Given the description of an element on the screen output the (x, y) to click on. 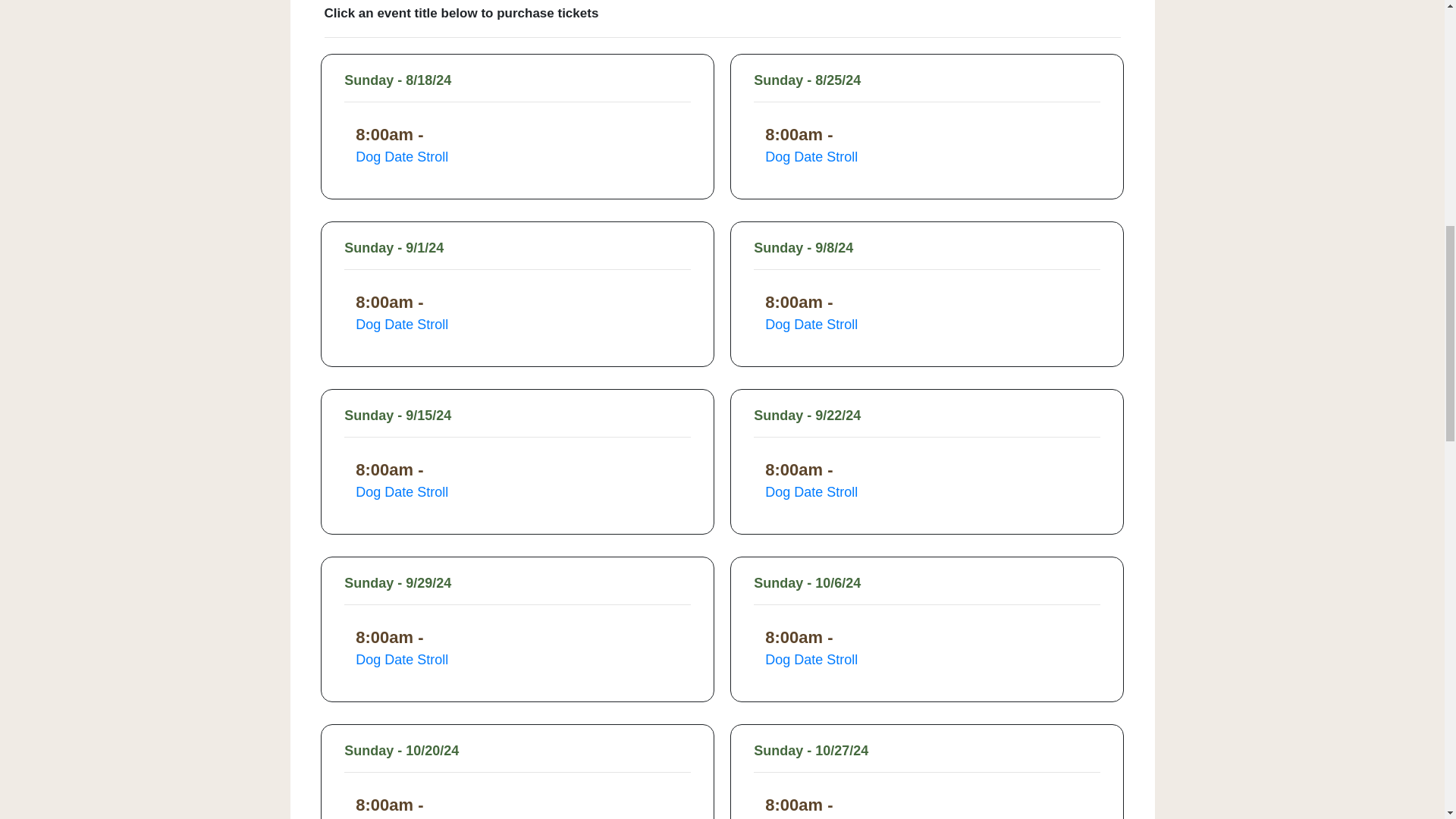
Dog Date Stroll (926, 157)
Dog Date Stroll (926, 660)
Dog Date Stroll (516, 157)
Dog Date Stroll (926, 324)
Dog Date Stroll (516, 660)
Dog Date Stroll (516, 492)
Dog Date Stroll (926, 492)
Dog Date Stroll (516, 324)
